Given the description of an element on the screen output the (x, y) to click on. 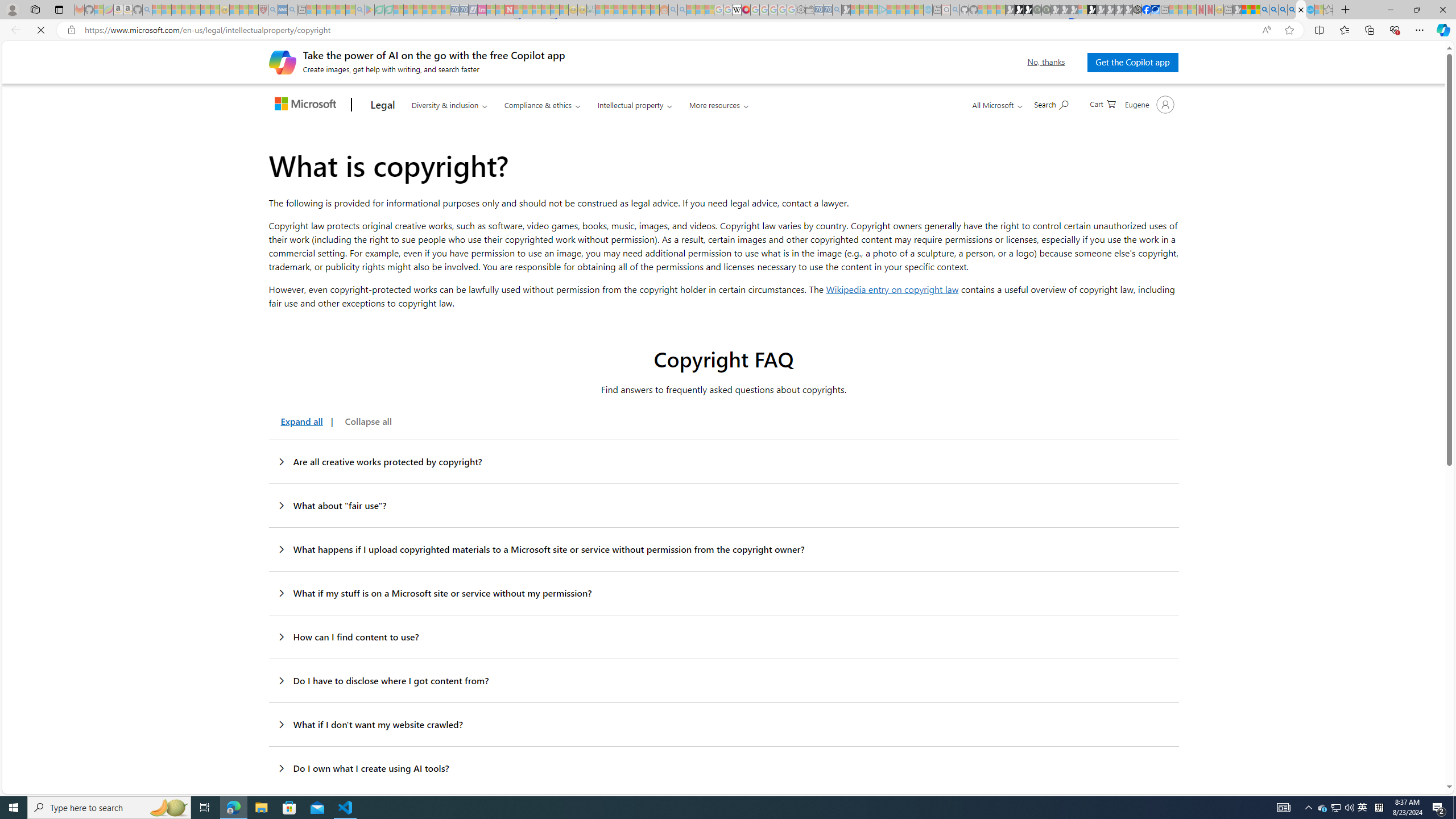
Favorites - Sleeping (1328, 9)
Bing AI - Search (1264, 9)
Microsoft (306, 105)
Search Microsoft Legal Resources (1051, 103)
Are all creative works protected by copyright? (723, 462)
Google Chrome Internet Browser Download - Search Images (1291, 9)
Account manager for Eugene (1148, 103)
